Given the description of an element on the screen output the (x, y) to click on. 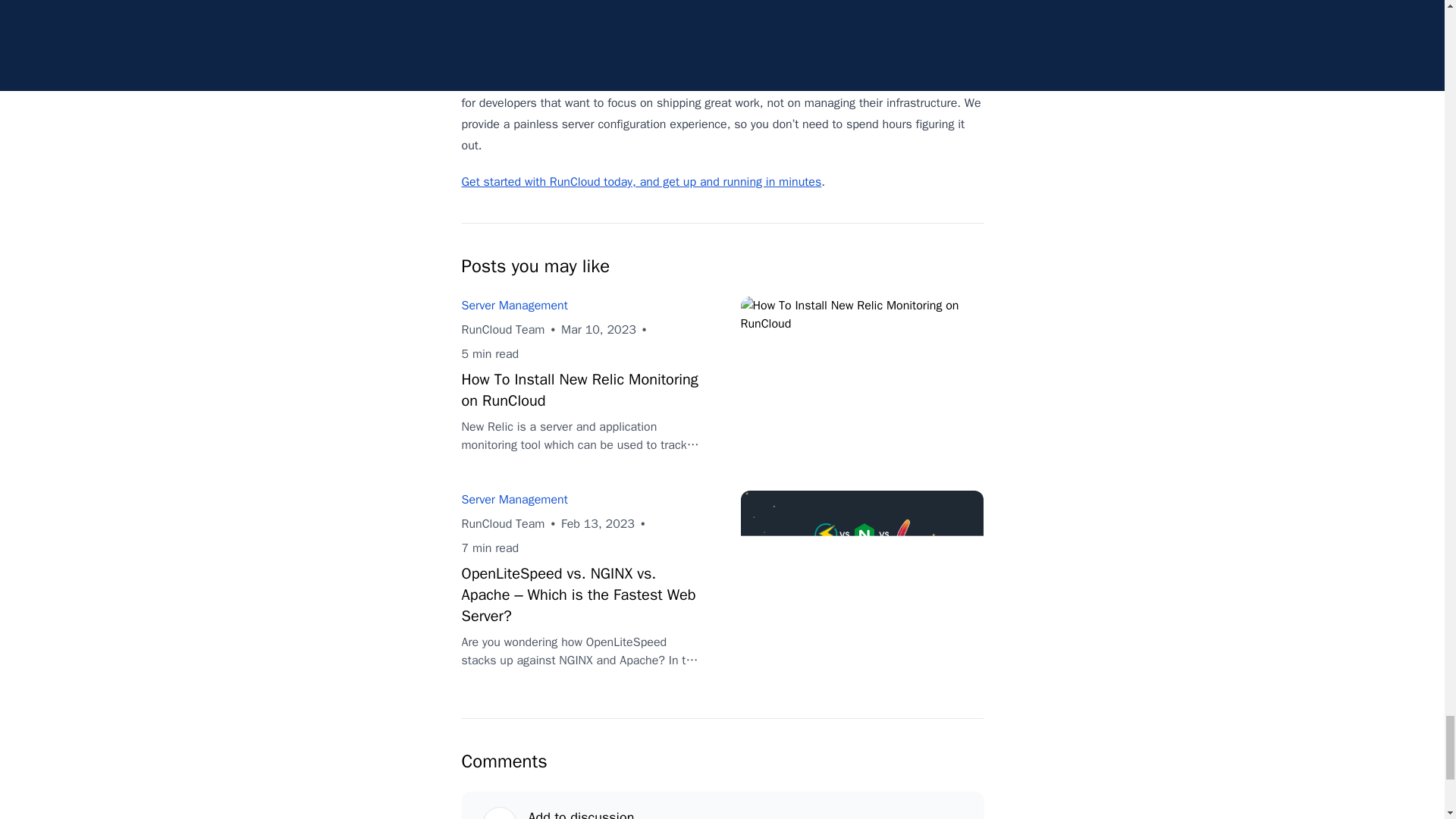
DigitalOcean (494, 5)
